Given the description of an element on the screen output the (x, y) to click on. 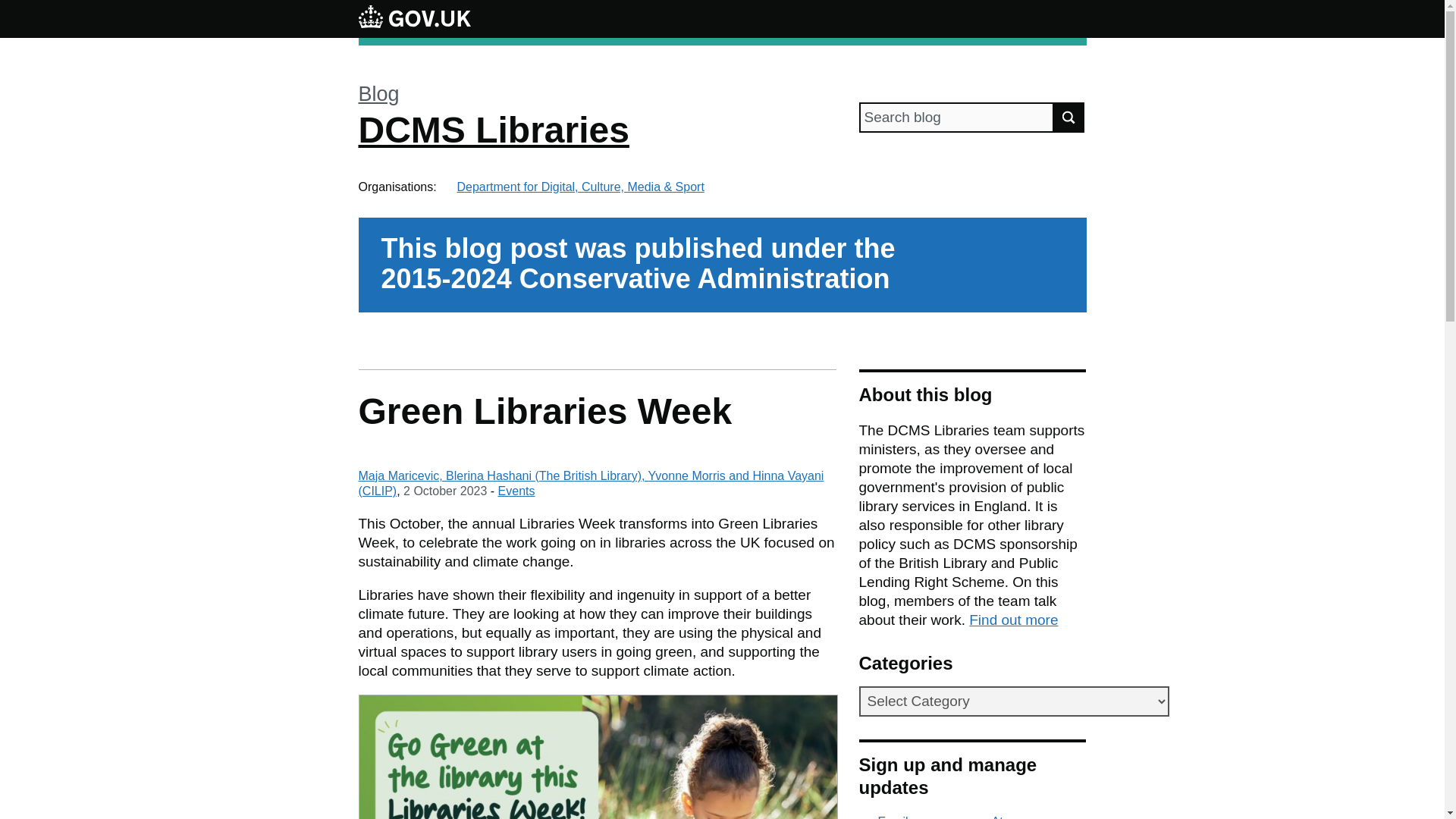
GOV.UK (414, 15)
Skip to main content (11, 7)
Find out more (1013, 619)
Events (516, 490)
Go to the GOV.UK homepage (414, 18)
Email (883, 816)
Search (1069, 117)
Search (1069, 117)
Blog (378, 93)
GOV.UK (414, 18)
DCMS Libraries (493, 129)
Atom (995, 816)
